Given the description of an element on the screen output the (x, y) to click on. 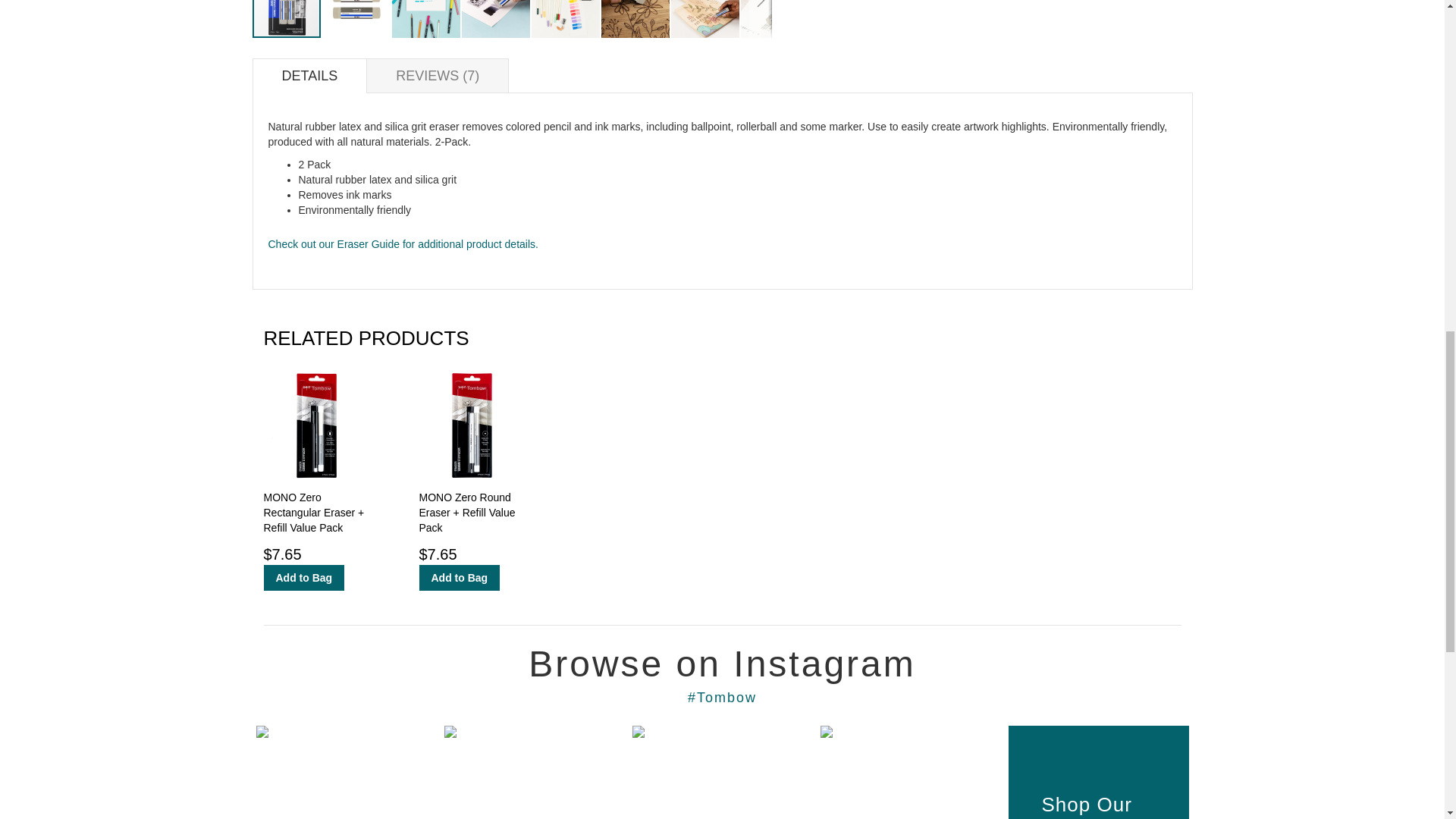
Add to Bag (304, 577)
Add to Bag (459, 577)
